Given the description of an element on the screen output the (x, y) to click on. 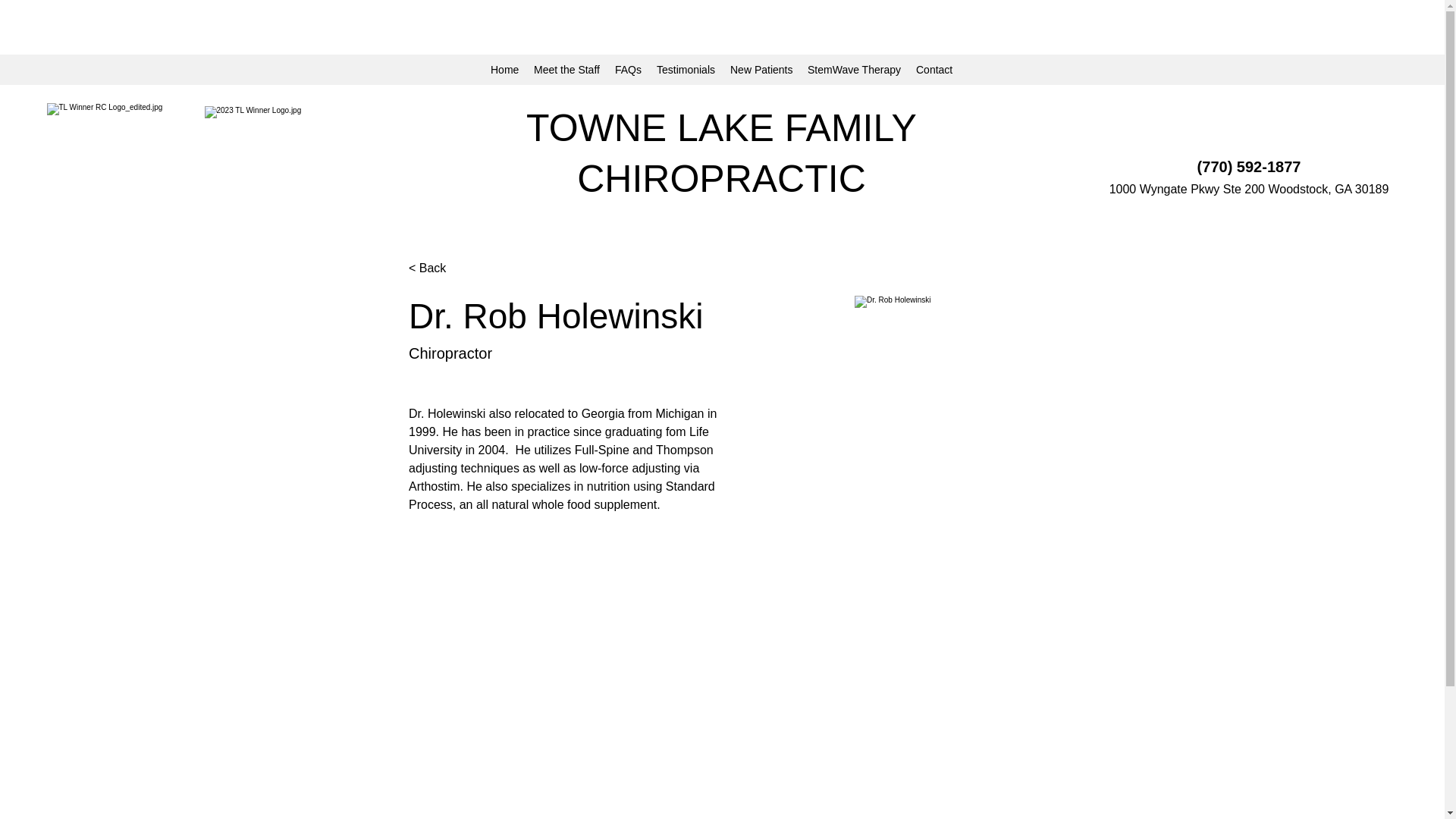
Home (504, 69)
New Patients (760, 69)
FAQs (628, 69)
Contact (933, 69)
Readers Choice 2023.JPG (275, 164)
TL Winner RC Logo.jpg (117, 164)
StemWave Therapy (853, 69)
Meet the Staff (566, 69)
Testimonials (685, 69)
